Given the description of an element on the screen output the (x, y) to click on. 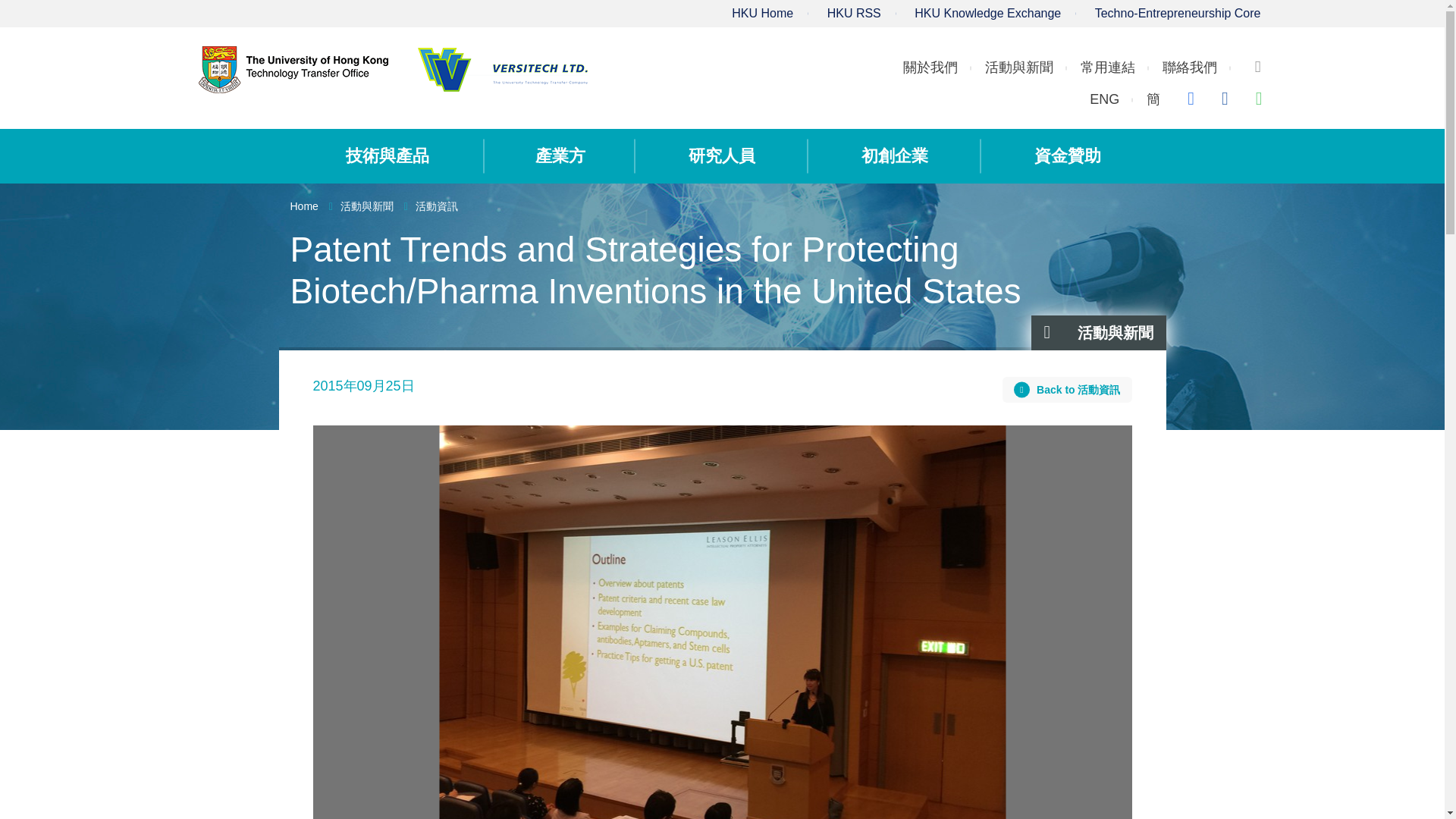
HKU Knowledge Exchange (987, 12)
HKU Home (762, 12)
HKU RSS (853, 12)
ENG (1103, 99)
Techno-Entrepreneurship Core (1177, 12)
